Given the description of an element on the screen output the (x, y) to click on. 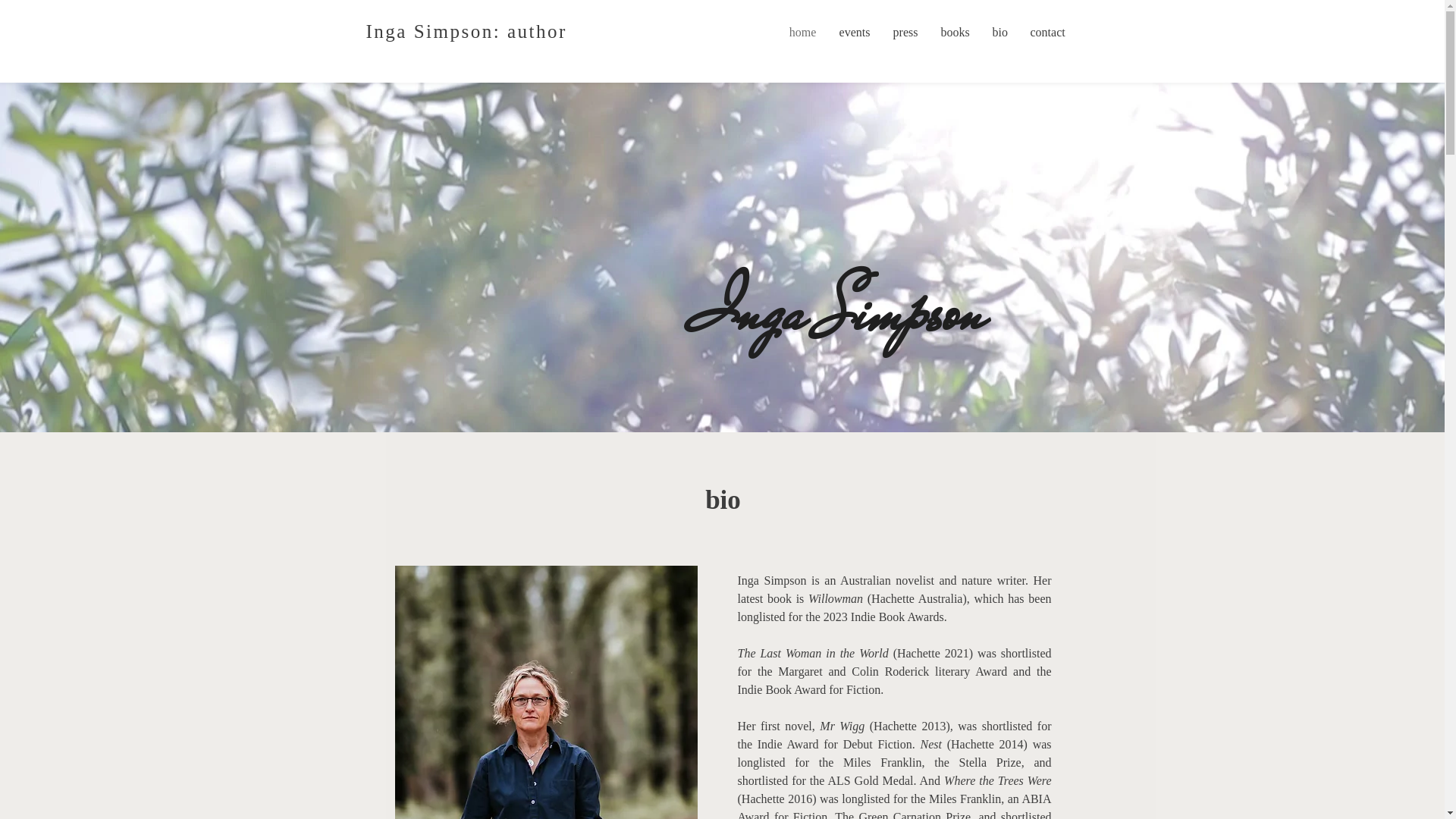
books Element type: text (955, 31)
bio Element type: text (1000, 31)
home Element type: text (803, 31)
press Element type: text (904, 31)
contact Element type: text (1047, 31)
Inga Simpson: author Element type: text (465, 31)
events Element type: text (854, 31)
